Given the description of an element on the screen output the (x, y) to click on. 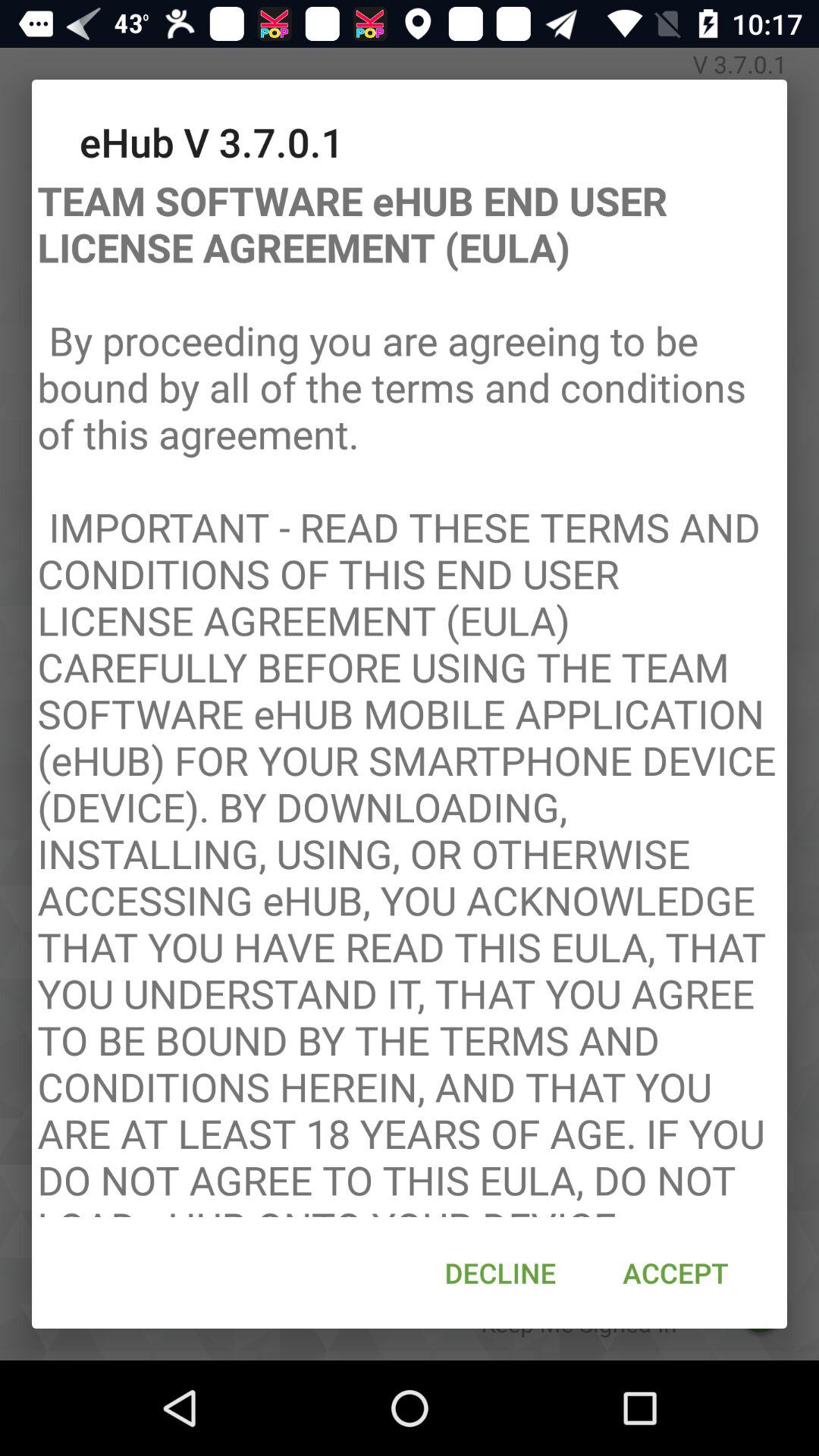
turn off the decline icon (500, 1272)
